Given the description of an element on the screen output the (x, y) to click on. 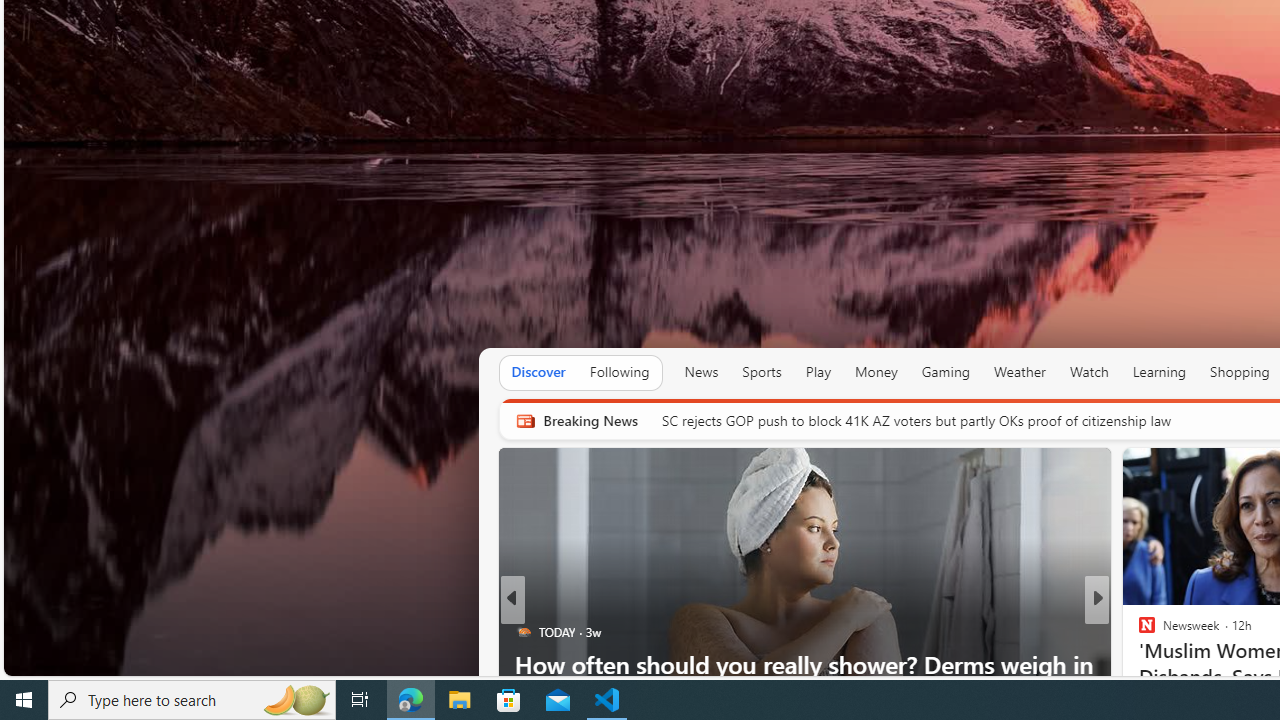
Weather (1020, 371)
Sports (761, 372)
Gaming (945, 372)
